Given the description of an element on the screen output the (x, y) to click on. 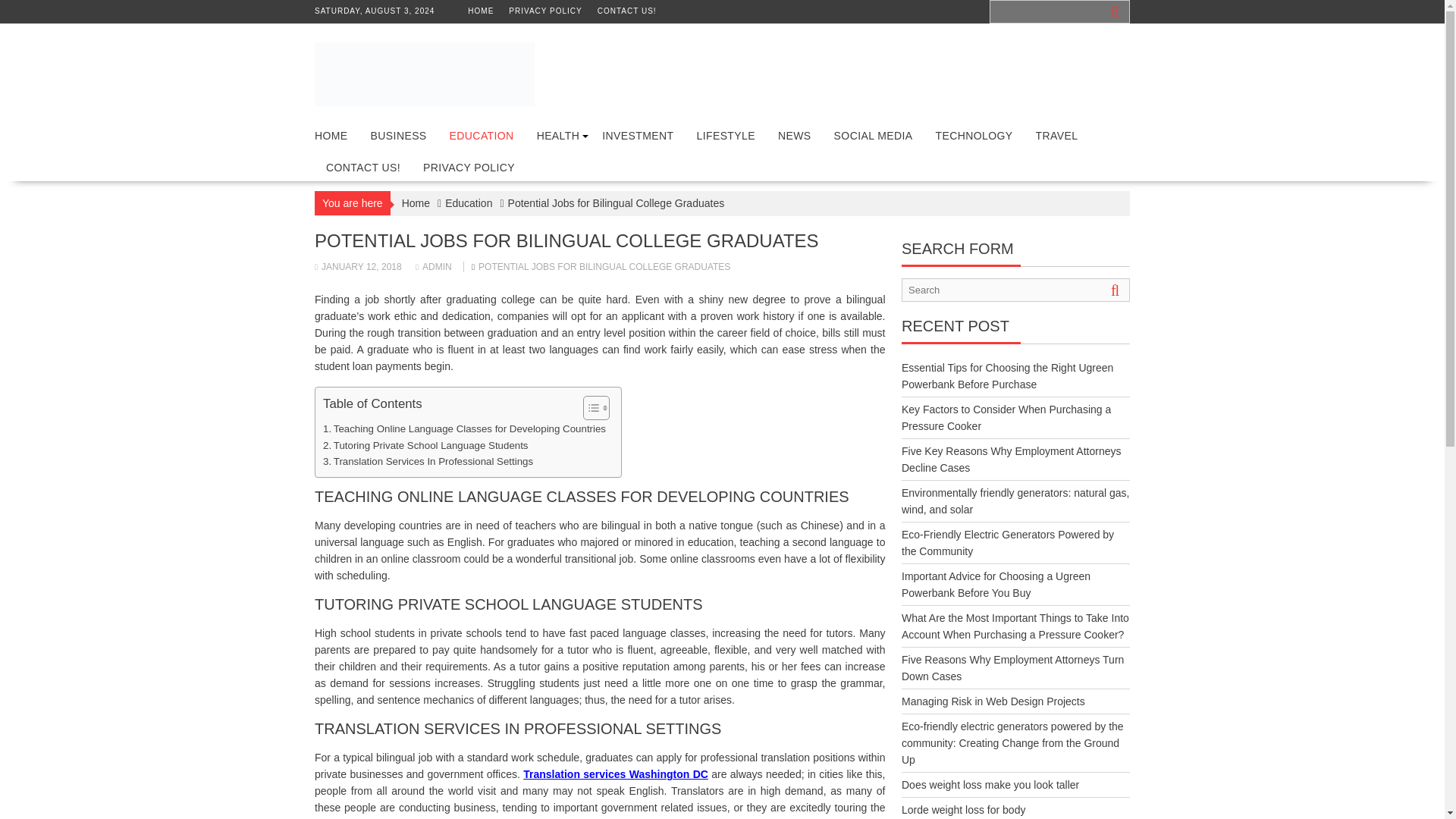
Teaching Online Language Classes for Developing Countries (464, 428)
CONTACT US! (363, 167)
LIFESTYLE (725, 135)
Translation services Washington DC (614, 774)
INVESTMENT (637, 135)
TRAVEL (1056, 135)
HOME (480, 10)
TECHNOLOGY (973, 135)
EDUCATION (481, 135)
PRIVACY POLICY (468, 167)
